Given the description of an element on the screen output the (x, y) to click on. 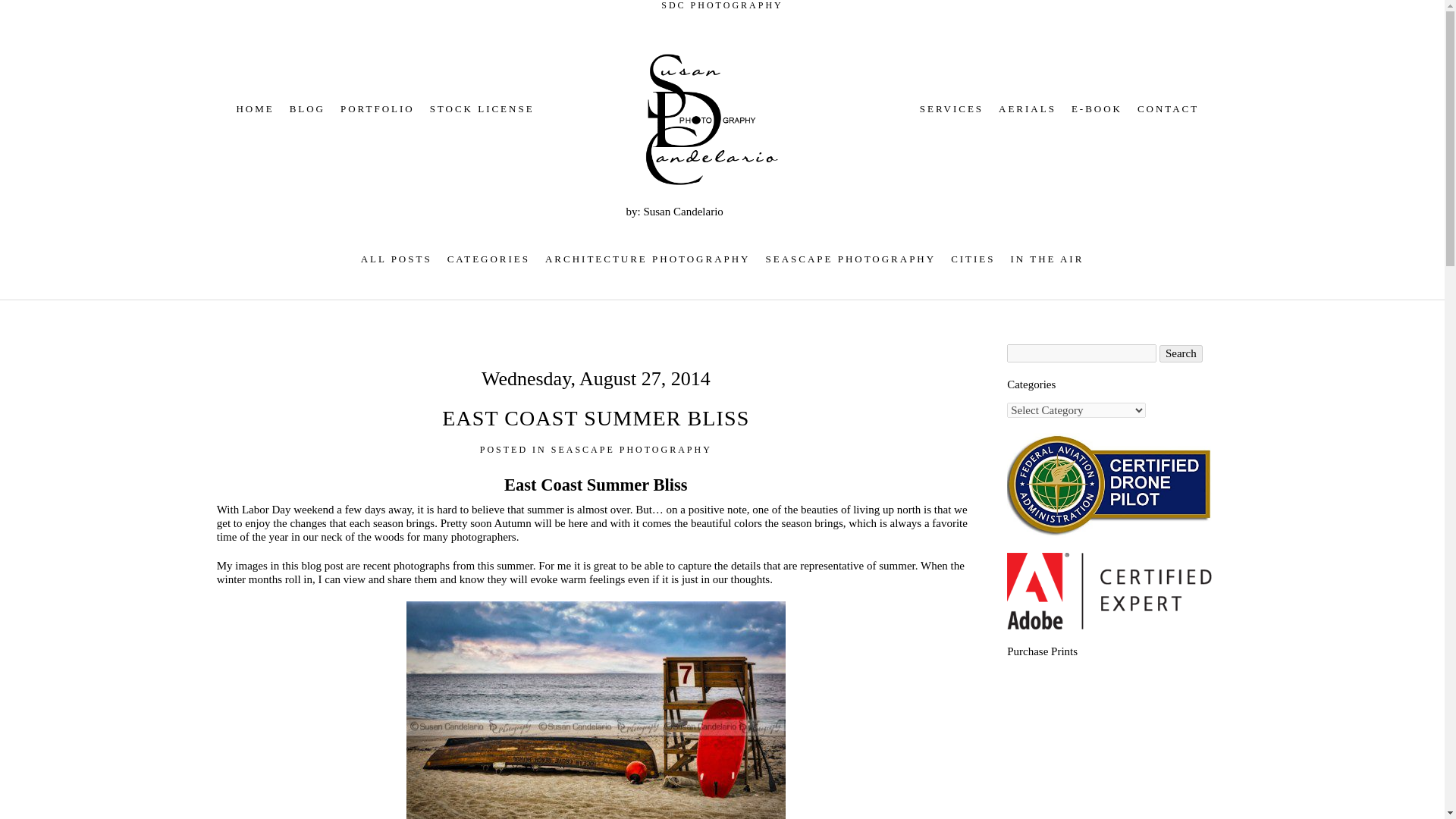
E-BOOK (1096, 108)
BLOG (306, 108)
AERIALS (1027, 108)
SERVICES (952, 108)
Search (1180, 353)
HOME (254, 108)
ALL POSTS (396, 258)
CONTACT (1167, 108)
PORTFOLIO (377, 108)
STOCK LICENSE (481, 108)
